Given the description of an element on the screen output the (x, y) to click on. 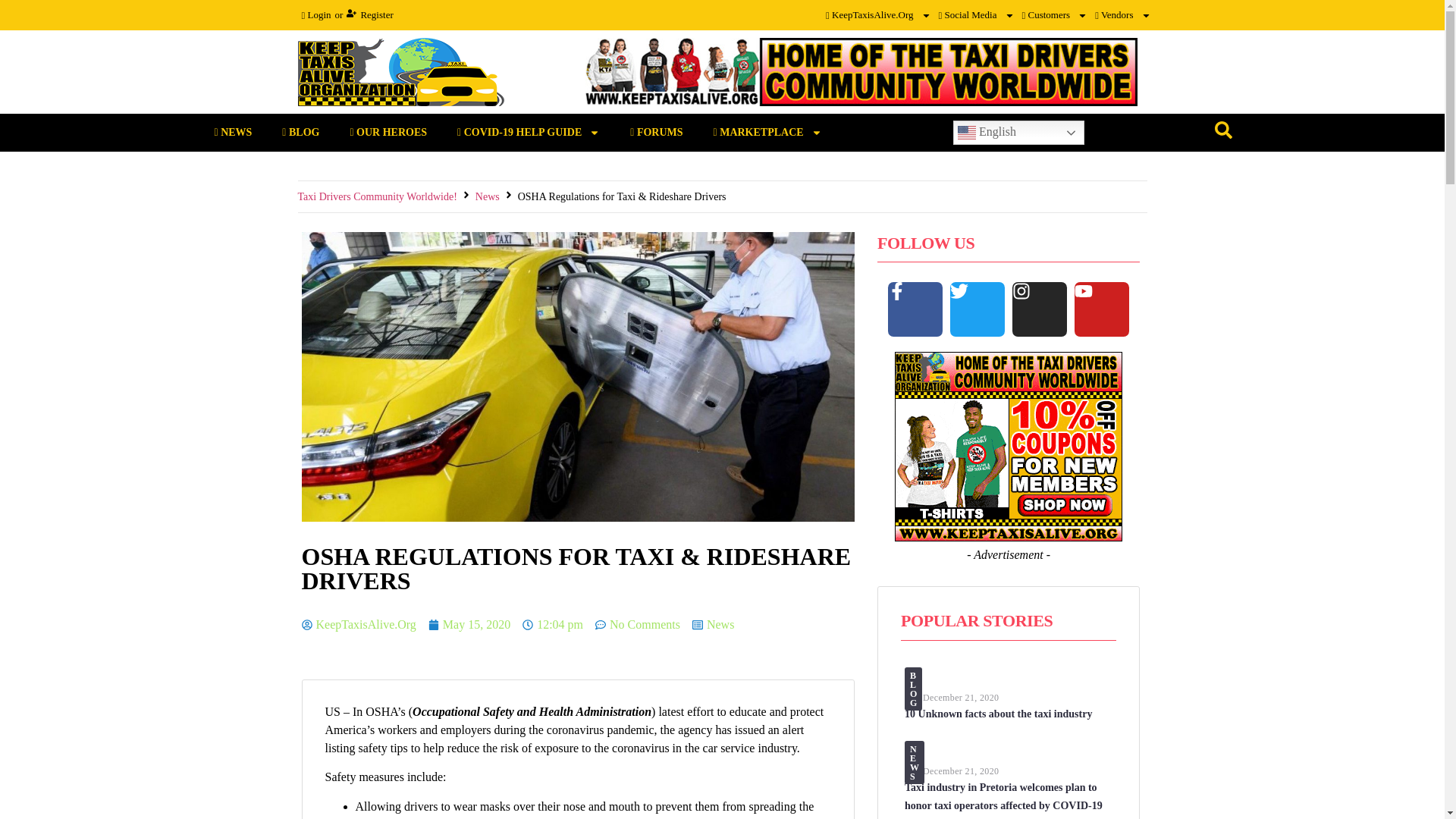
 OUR HEROES (388, 132)
 Login (315, 14)
 Vendors (1122, 14)
 Customers (1053, 14)
 BLOG (300, 132)
 KeepTaxisAlive.Org (878, 14)
Register (369, 14)
 Social Media (975, 14)
 NEWS (232, 132)
 COVID-19 HELP GUIDE (528, 132)
